Given the description of an element on the screen output the (x, y) to click on. 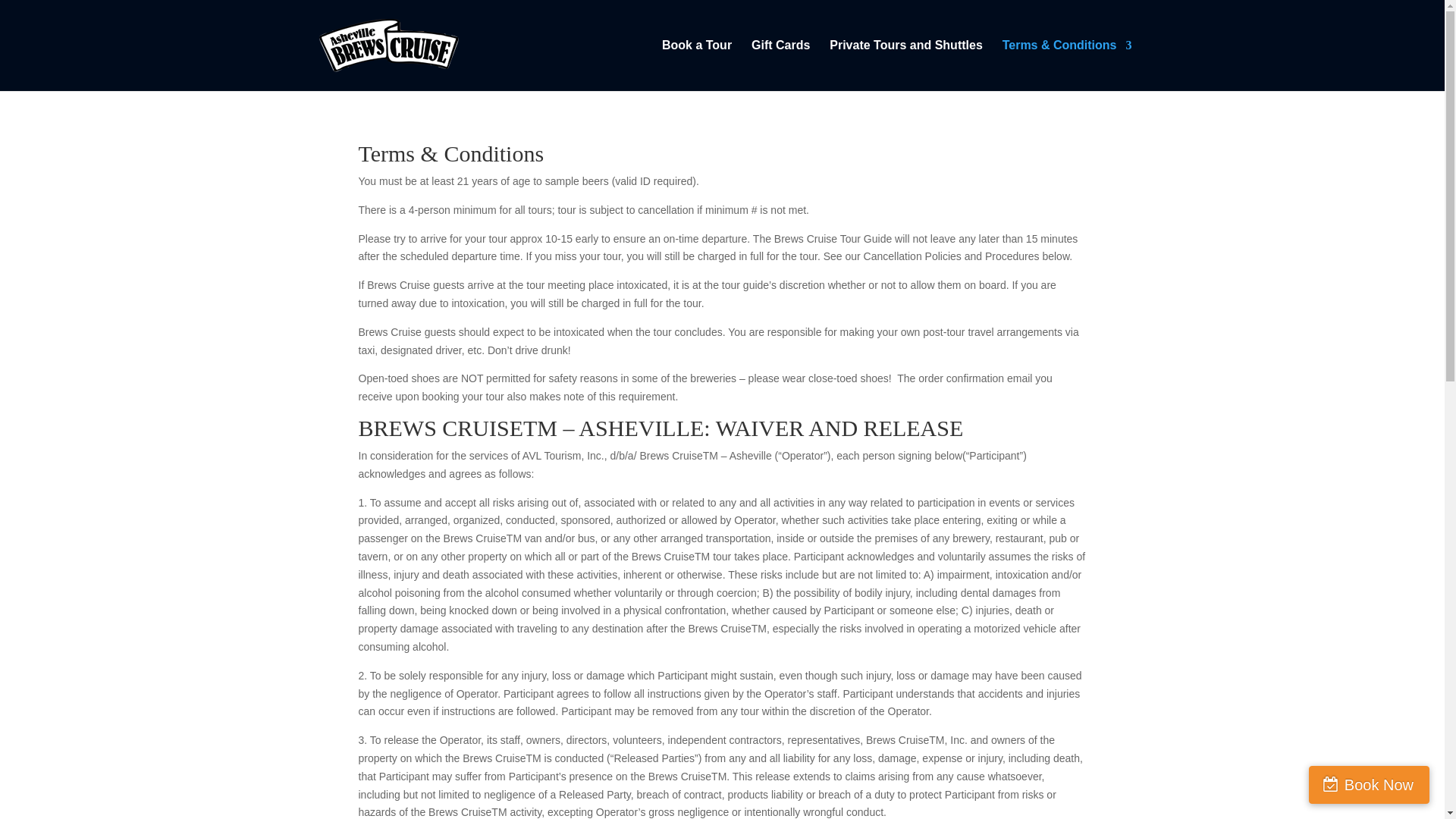
Book a Tour (697, 65)
Private Tours and Shuttles (905, 65)
Book Now (1368, 784)
Gift Cards (780, 65)
